Given the description of an element on the screen output the (x, y) to click on. 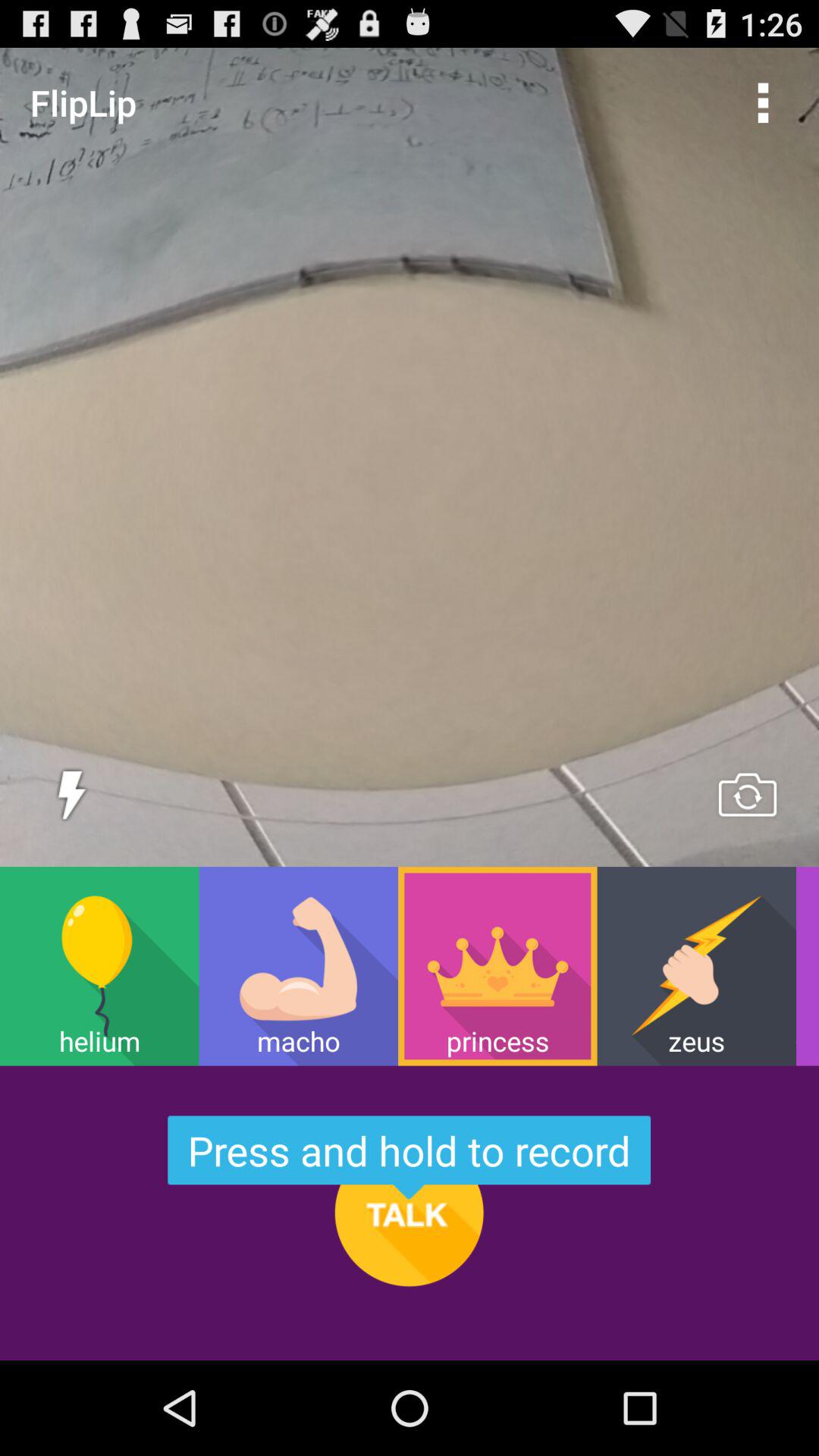
press item next to wacko (696, 965)
